Given the description of an element on the screen output the (x, y) to click on. 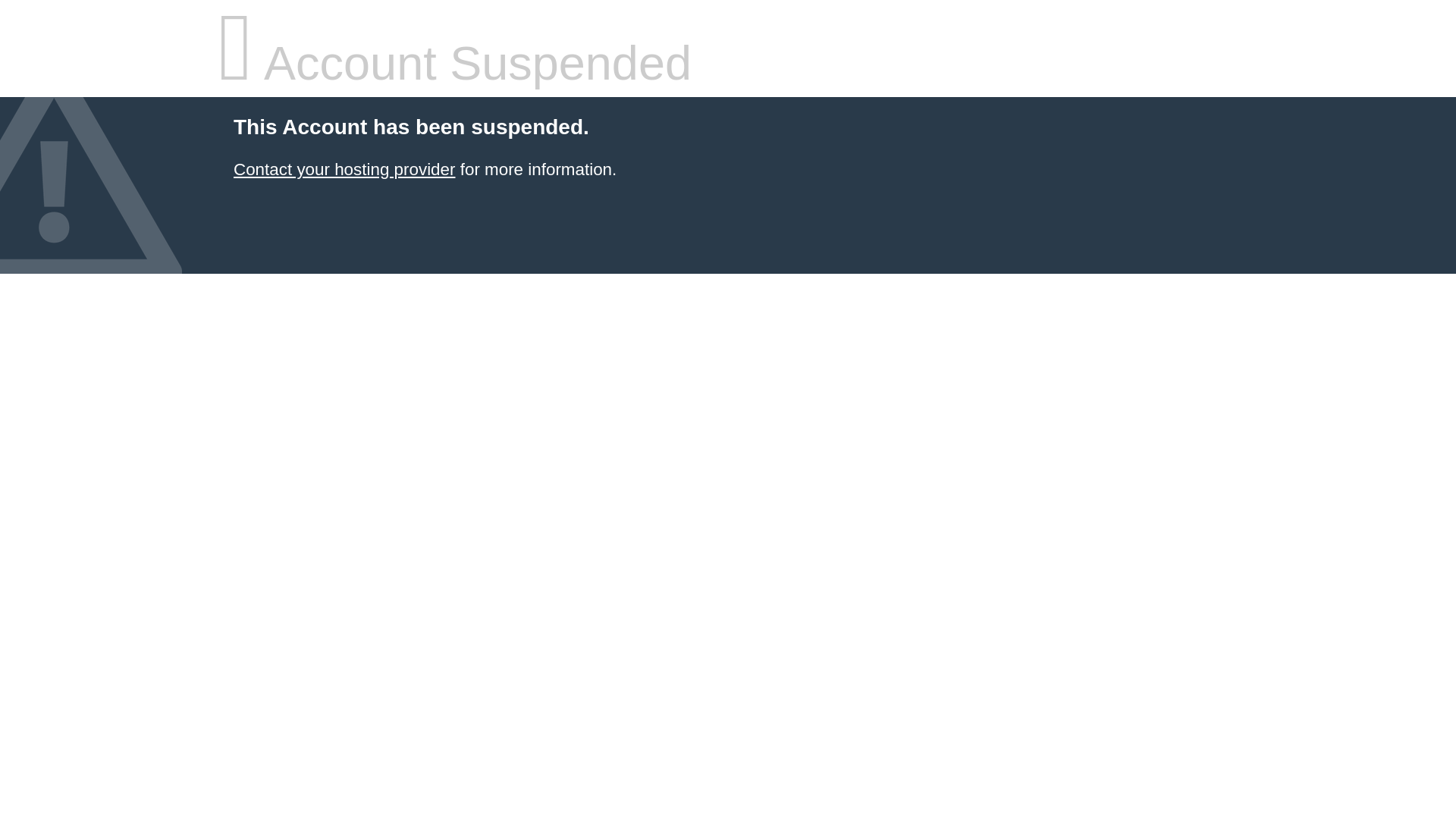
Contact your hosting provider Element type: text (344, 169)
